Given the description of an element on the screen output the (x, y) to click on. 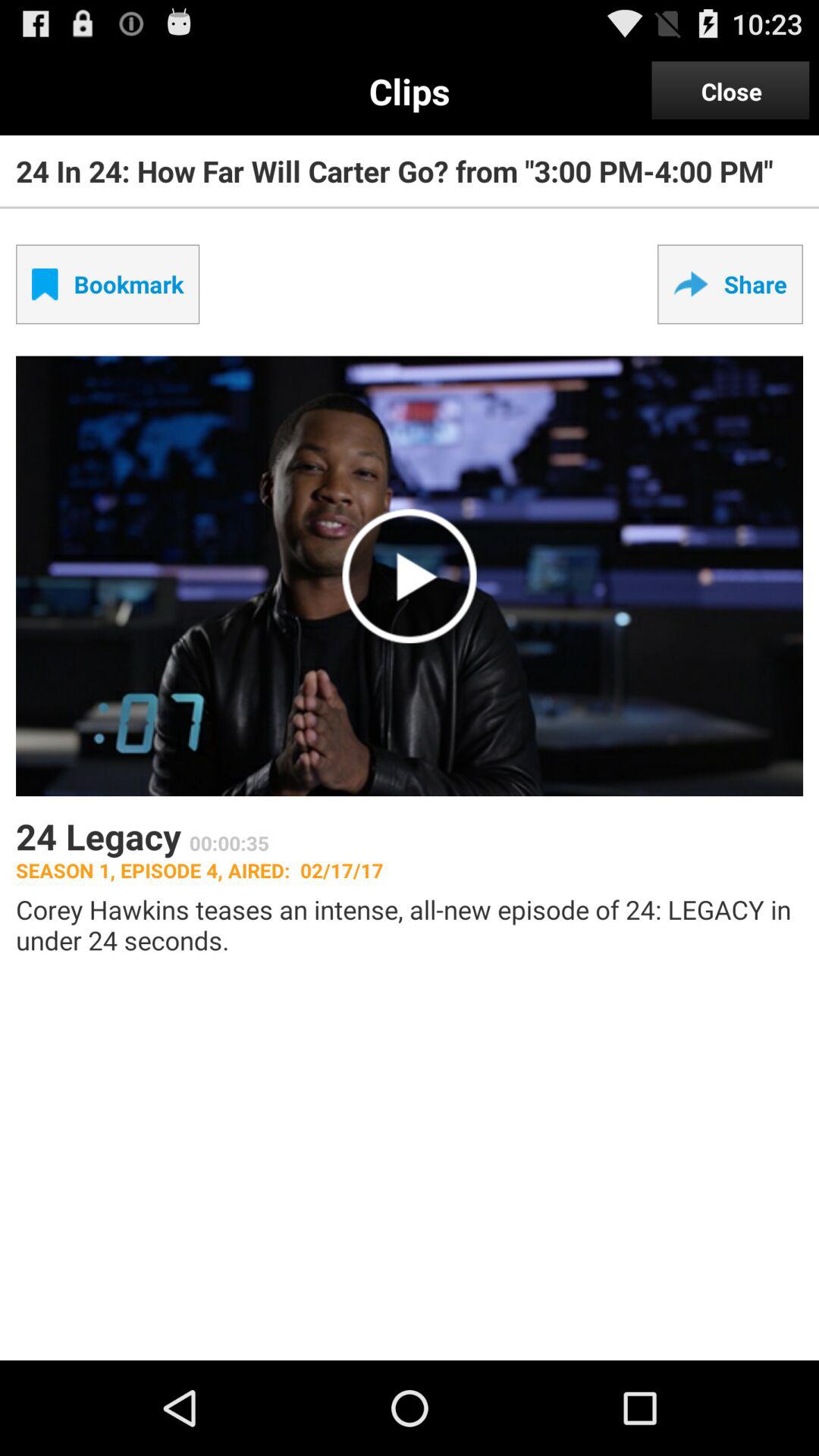
press icon to the right of bookmark checkbox (730, 284)
